Given the description of an element on the screen output the (x, y) to click on. 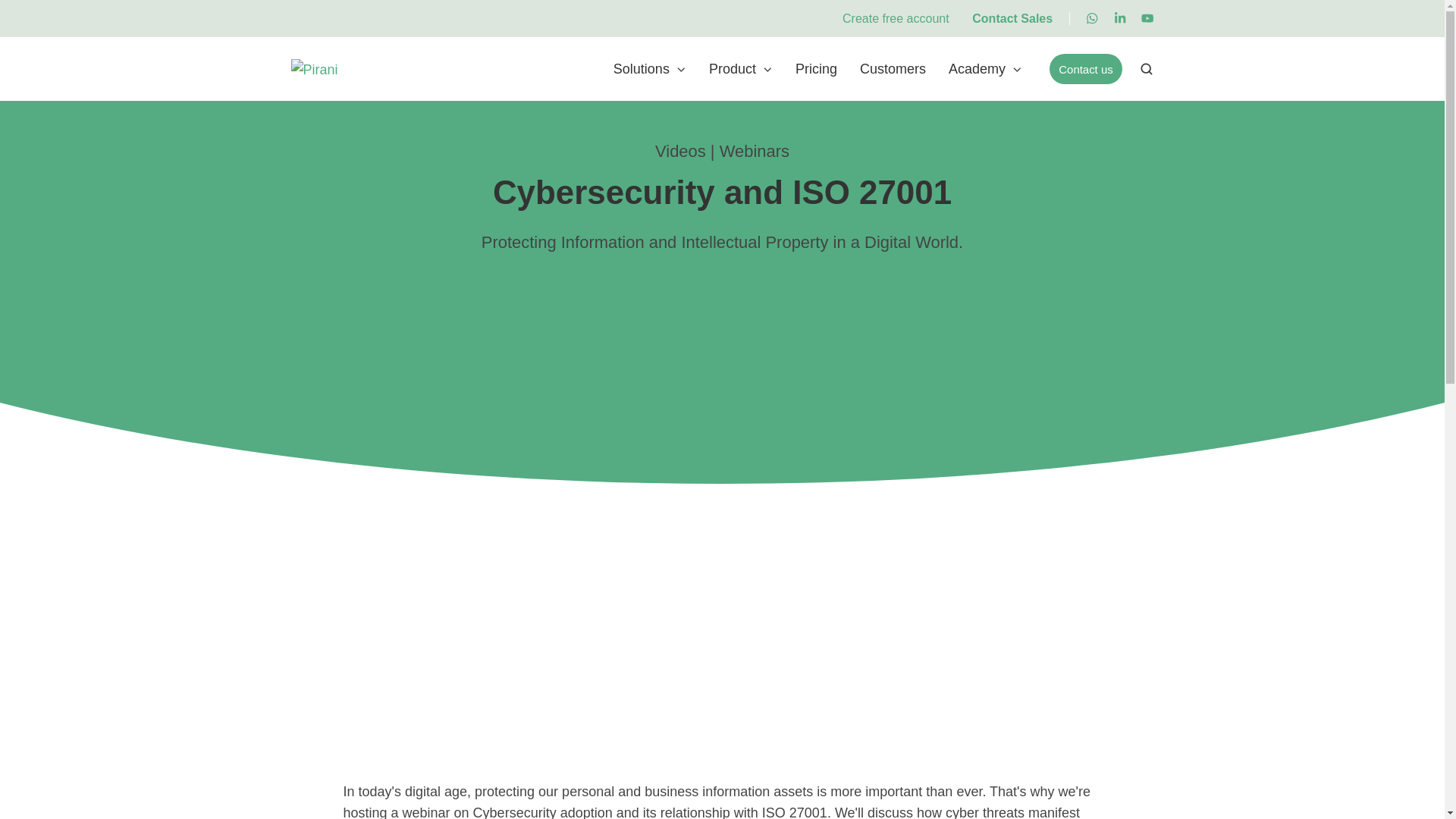
Pricing (815, 68)
Create free account (896, 18)
Contact Sales (1012, 18)
Solutions (648, 68)
Pirani (314, 69)
Academy (985, 68)
Customers (893, 68)
Product (741, 68)
